Given the description of an element on the screen output the (x, y) to click on. 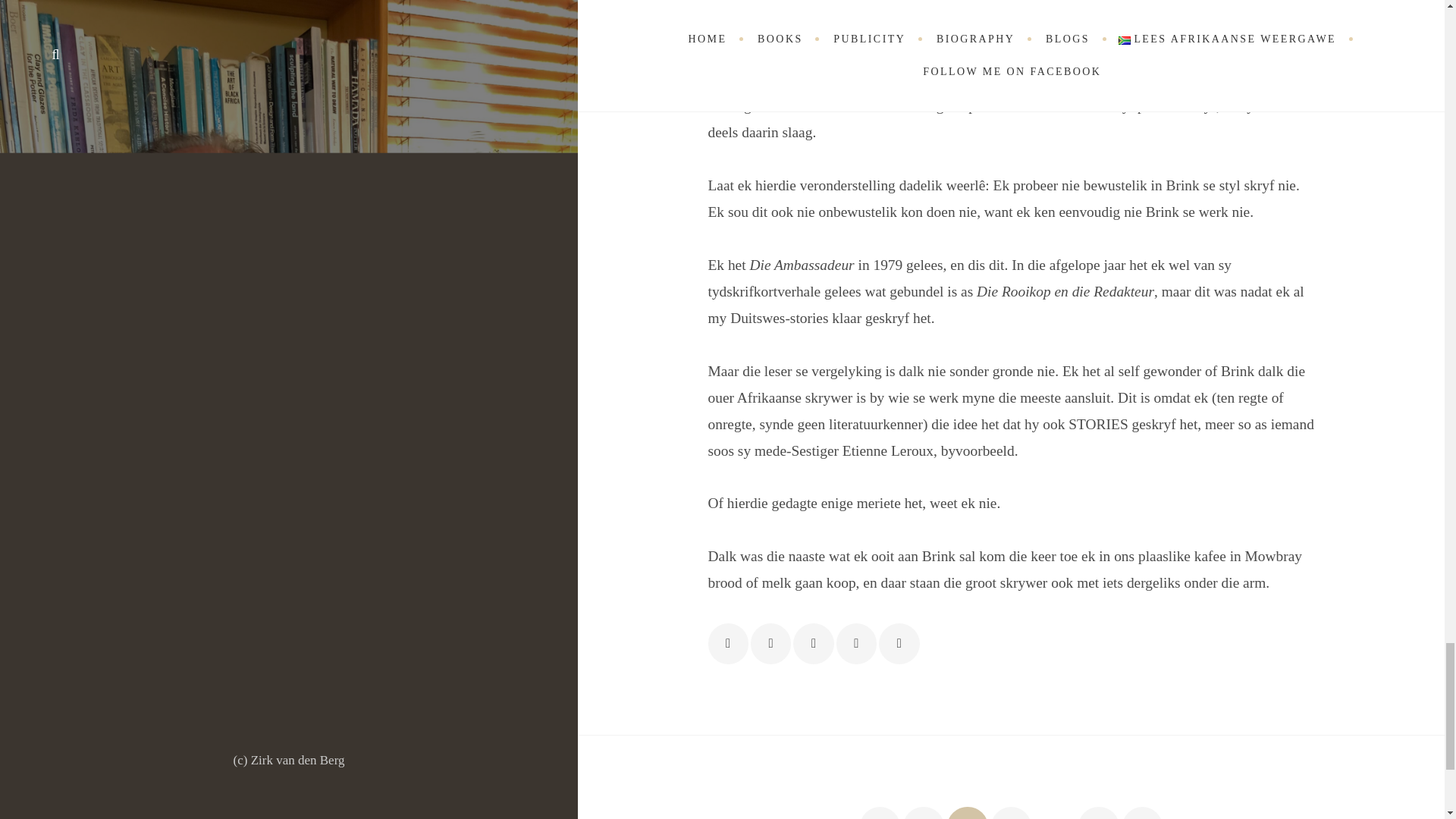
Tweet It (770, 643)
Pin It (855, 643)
Share on Facebook (727, 643)
Share on Google Plus (812, 643)
